Given the description of an element on the screen output the (x, y) to click on. 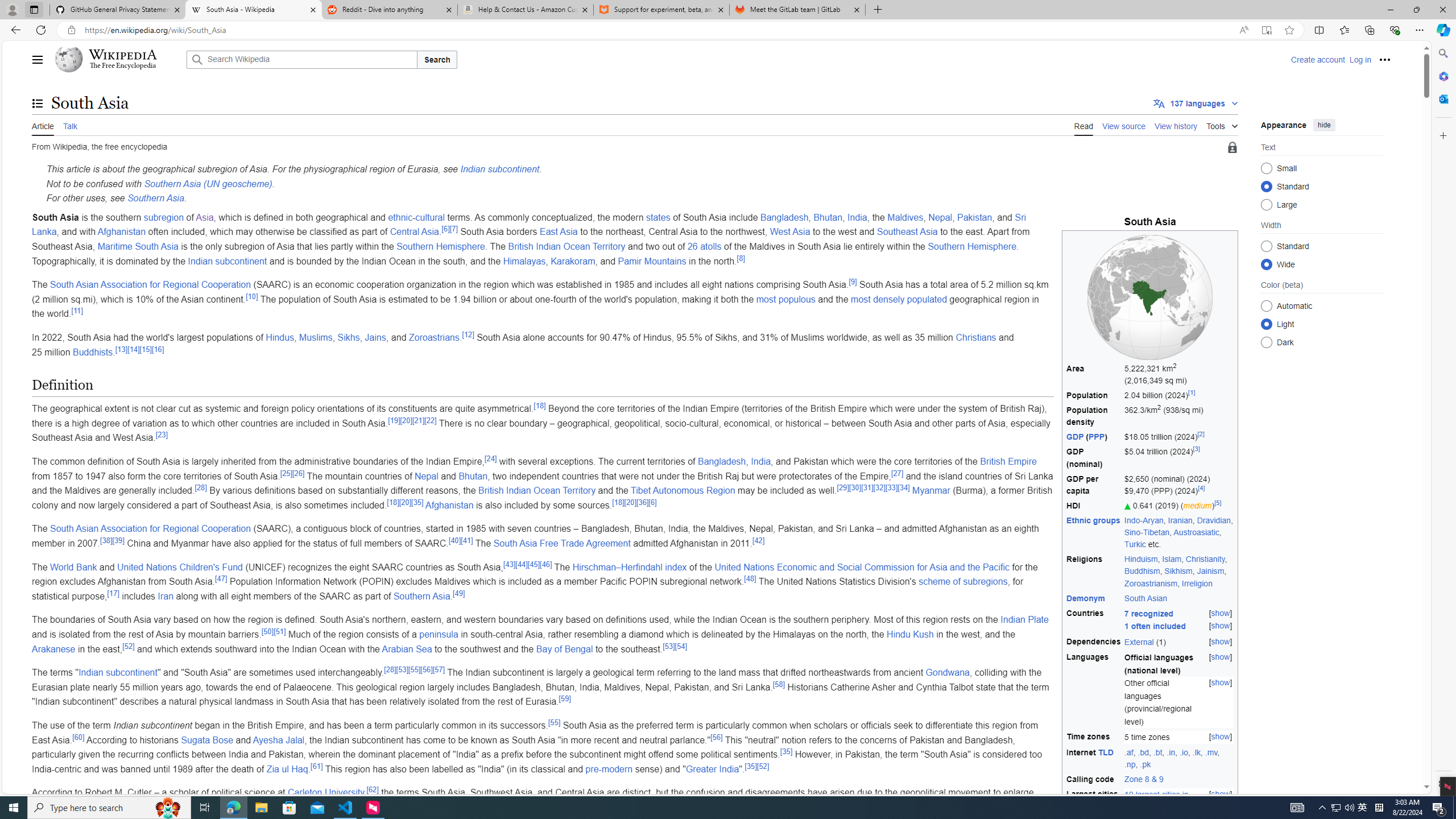
Log in (1360, 58)
Article (42, 124)
.bt (1157, 751)
Create account (1317, 58)
[31] (866, 487)
Page semi-protected (1232, 147)
[26] (298, 472)
[49] (458, 592)
Toggle the table of contents (37, 103)
.lk (1196, 751)
Wikipedia The Free Encyclopedia (117, 59)
Light (1266, 323)
